Given the description of an element on the screen output the (x, y) to click on. 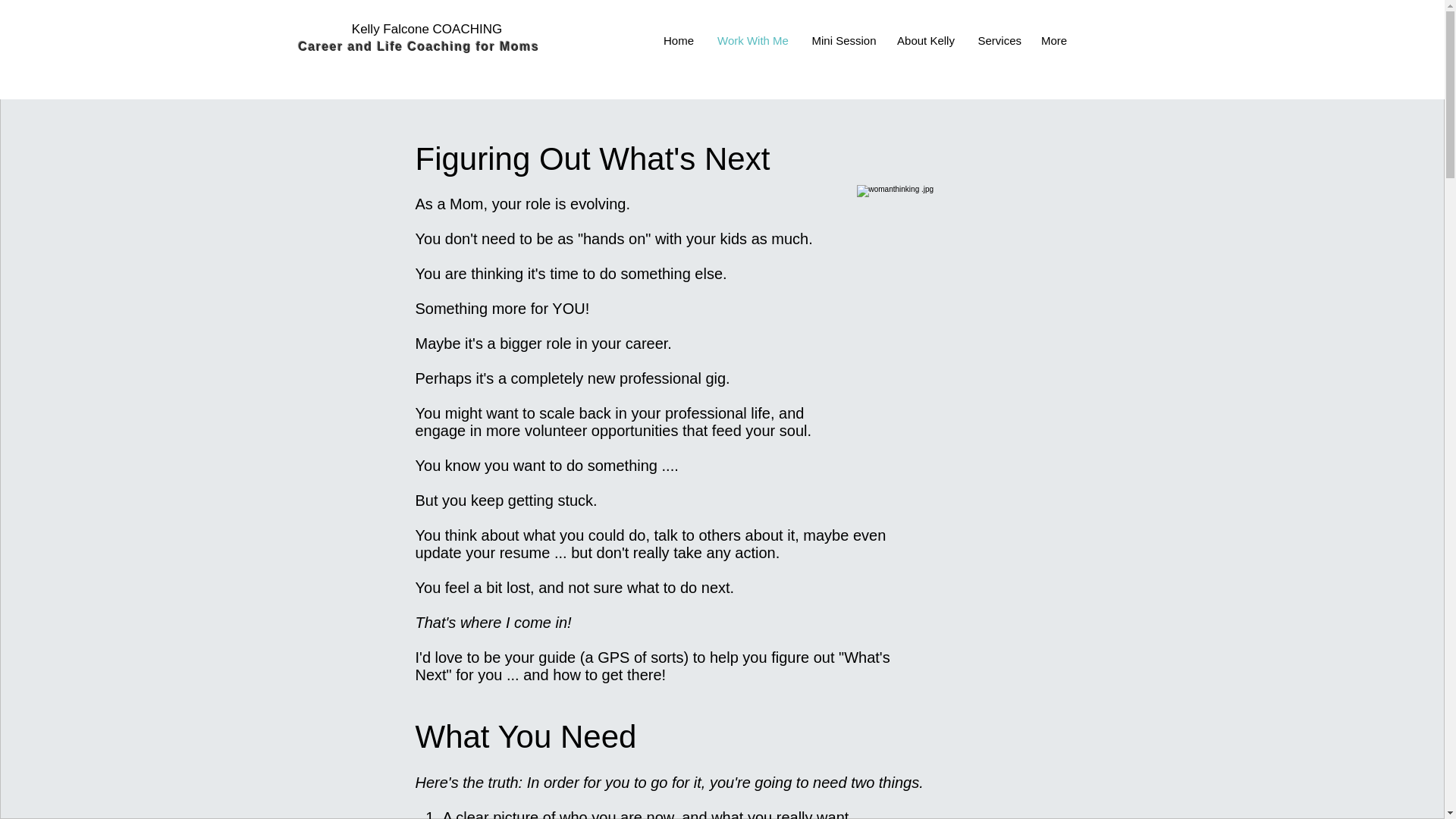
Work With Me (751, 40)
Home (679, 40)
Kelly Falcone COACHING (427, 29)
About Kelly (925, 40)
Mini Session (842, 40)
Services (997, 40)
